Given the description of an element on the screen output the (x, y) to click on. 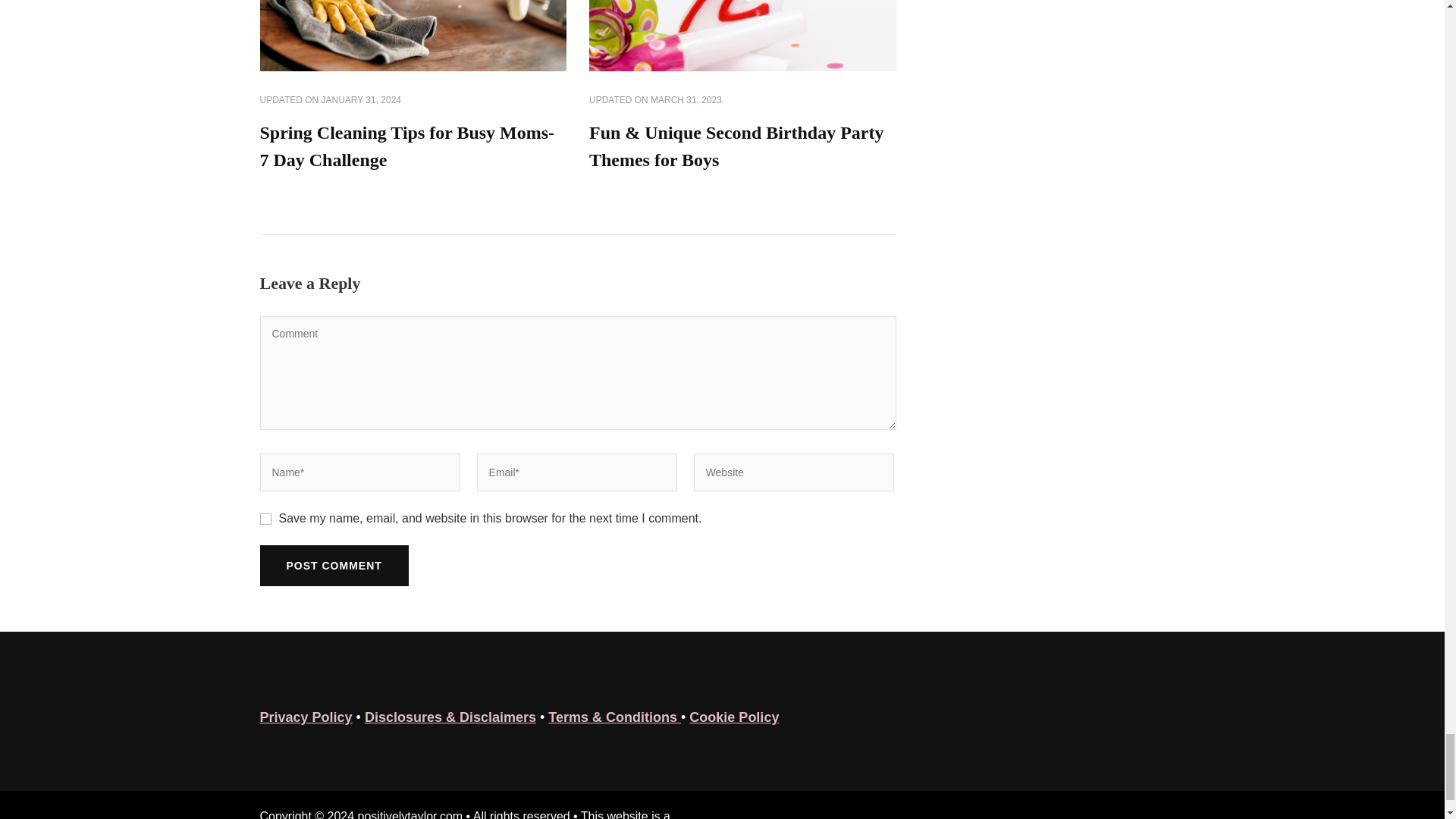
Post Comment (333, 565)
